Given the description of an element on the screen output the (x, y) to click on. 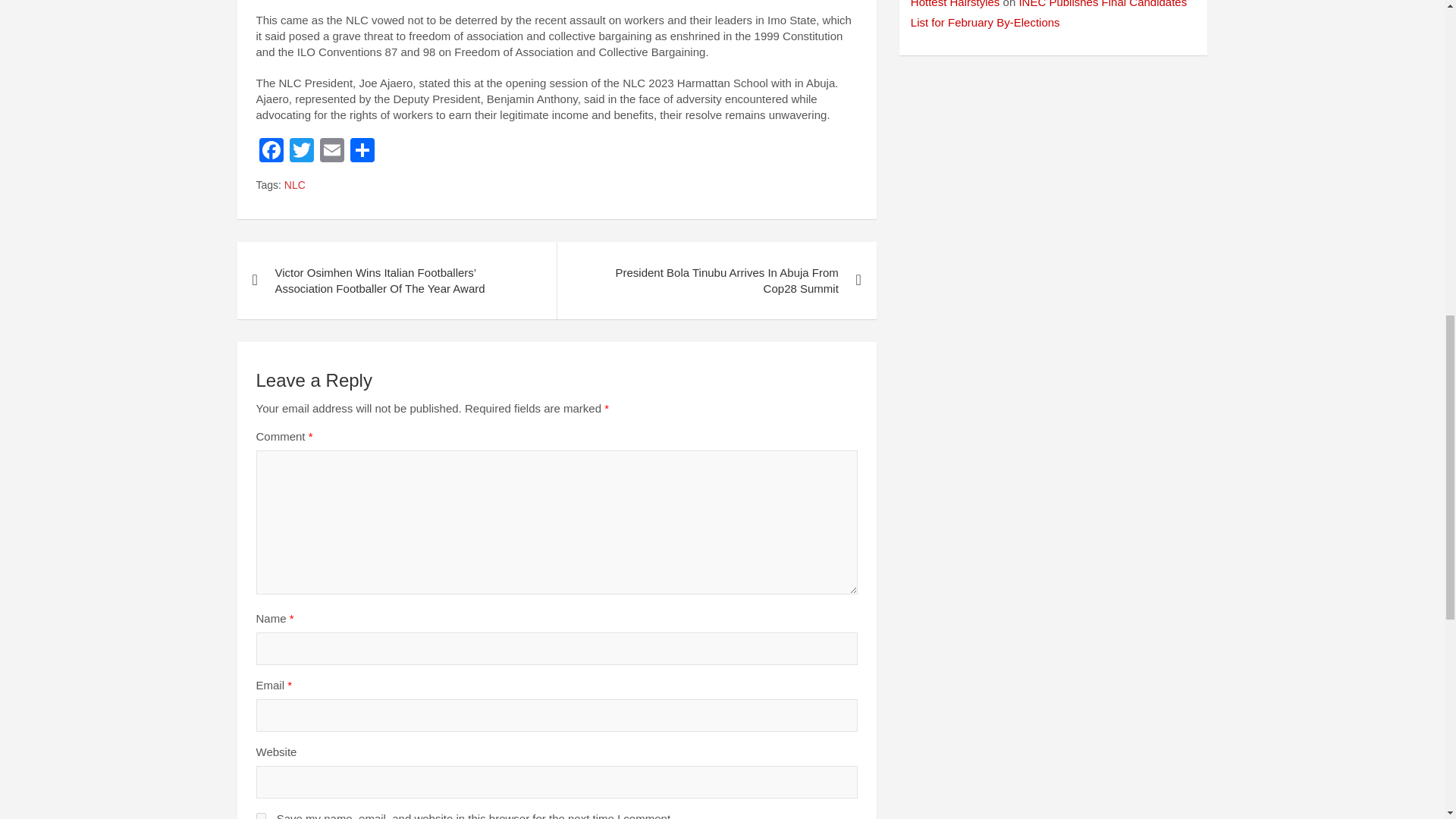
yes (261, 816)
Email (332, 152)
Twitter (301, 152)
Facebook (271, 152)
Facebook (271, 152)
NLC (294, 185)
President Bola Tinubu Arrives In Abuja From Cop28 Summit (716, 280)
Email (332, 152)
Twitter (301, 152)
